Given the description of an element on the screen output the (x, y) to click on. 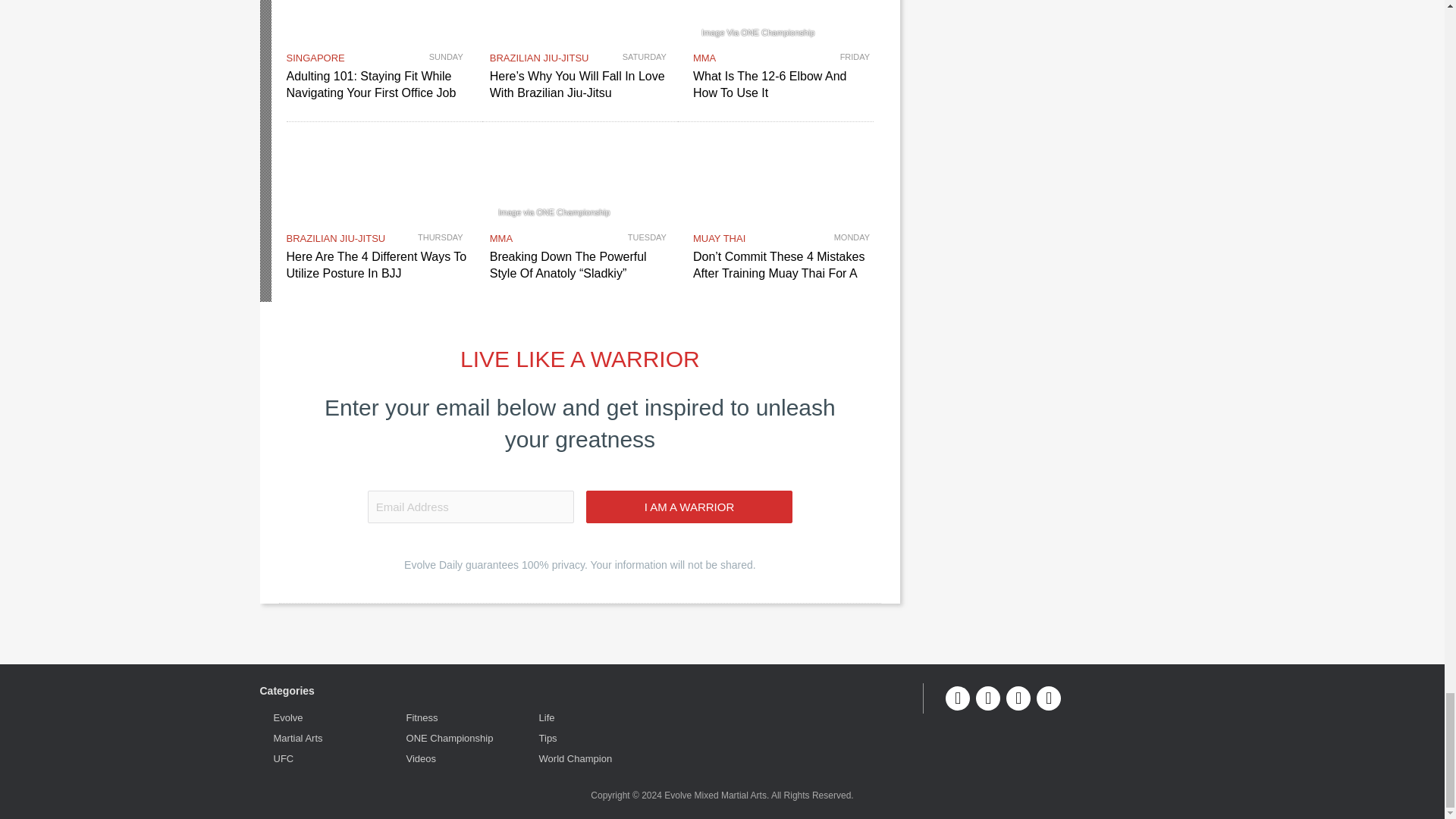
Muay Thai (719, 238)
Brazilian Jiu-Jitsu (335, 238)
MMA (704, 57)
MMA (500, 238)
Singapore (315, 57)
Brazilian Jiu-Jitsu (539, 57)
